Given the description of an element on the screen output the (x, y) to click on. 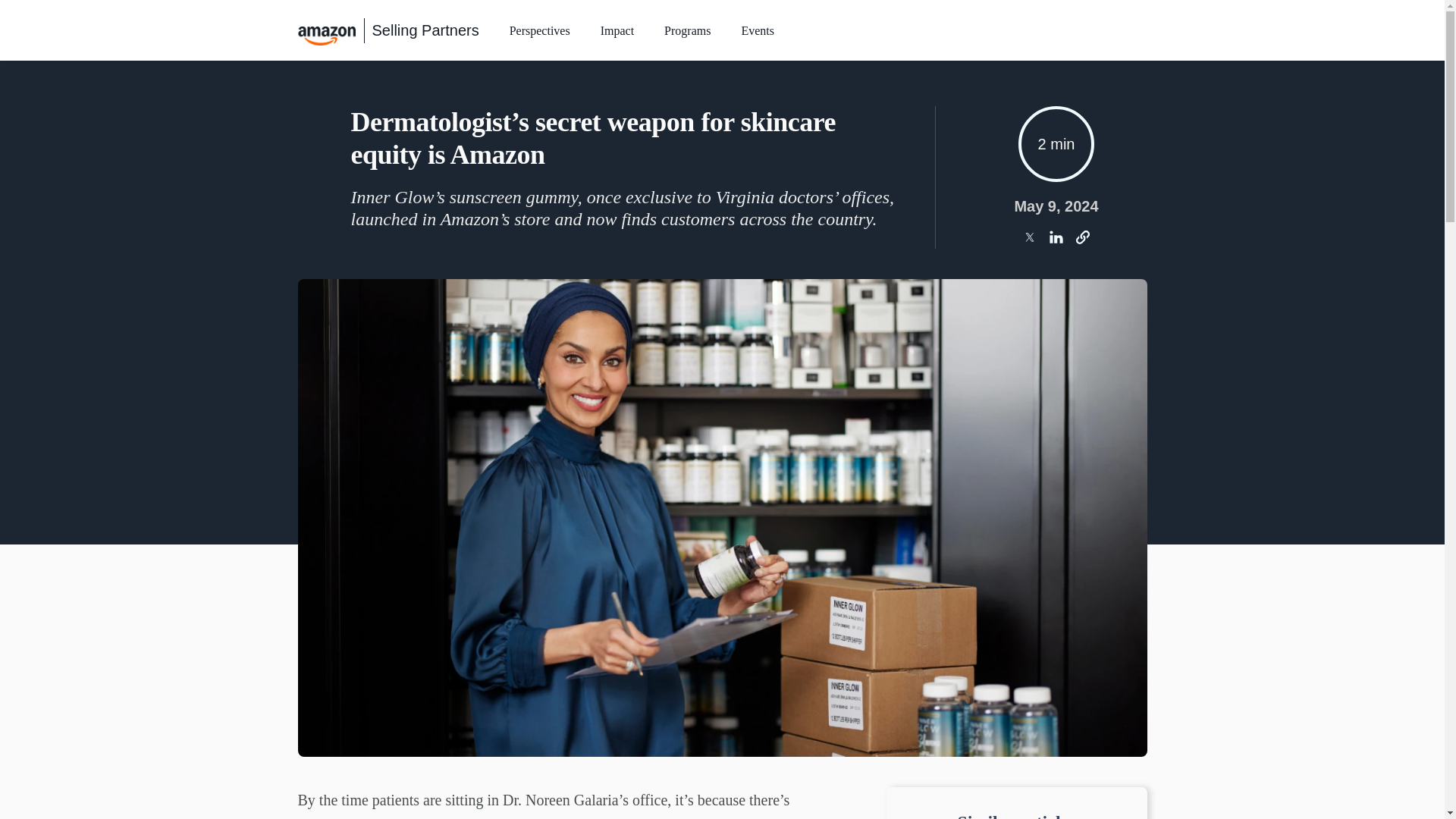
Programs (686, 32)
Twitter (1029, 237)
Perspectives (539, 32)
LinkedIn (1056, 237)
